Given the description of an element on the screen output the (x, y) to click on. 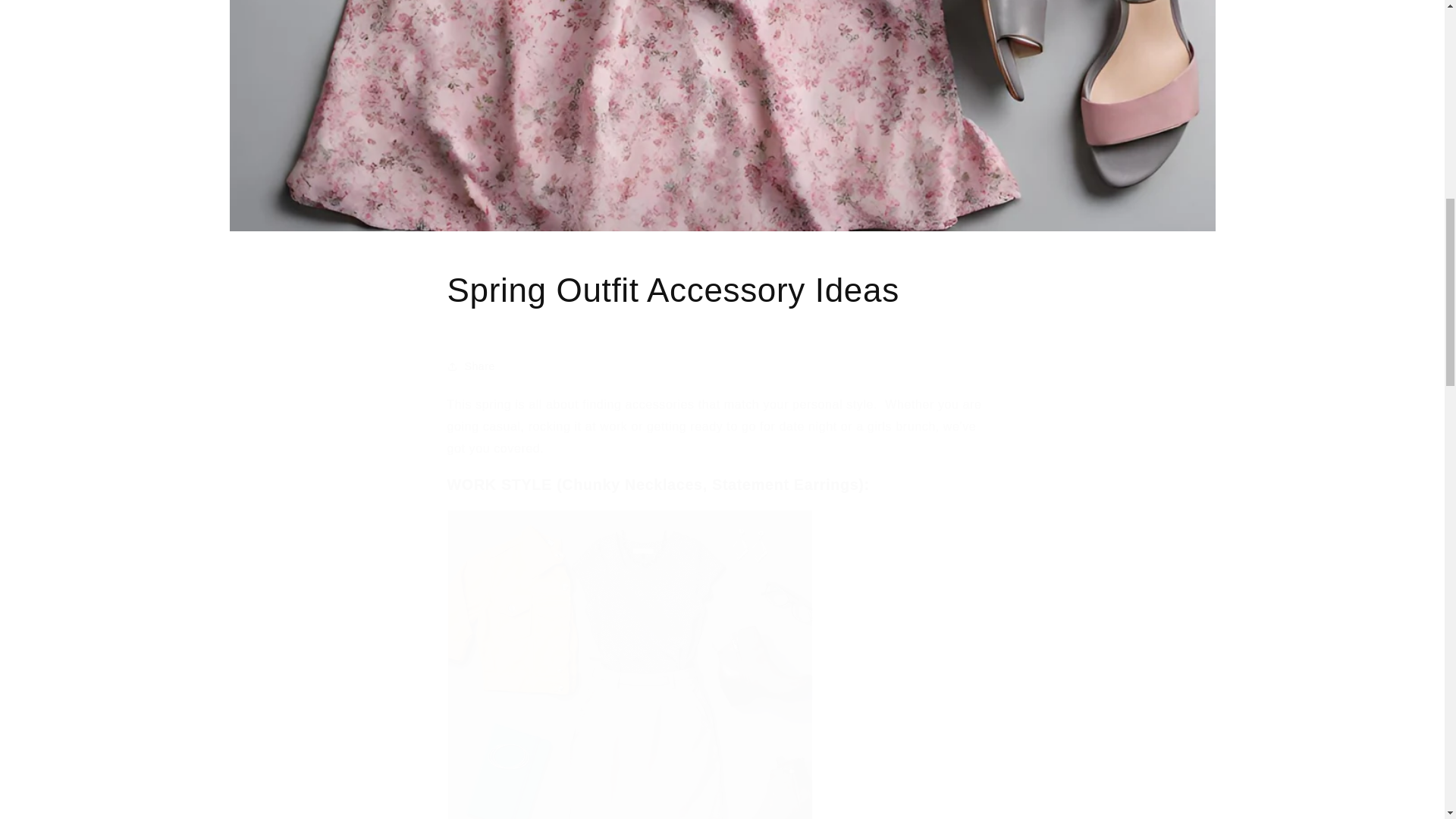
Spring Outfit Accessory Ideas (721, 290)
Share (721, 366)
